Given the description of an element on the screen output the (x, y) to click on. 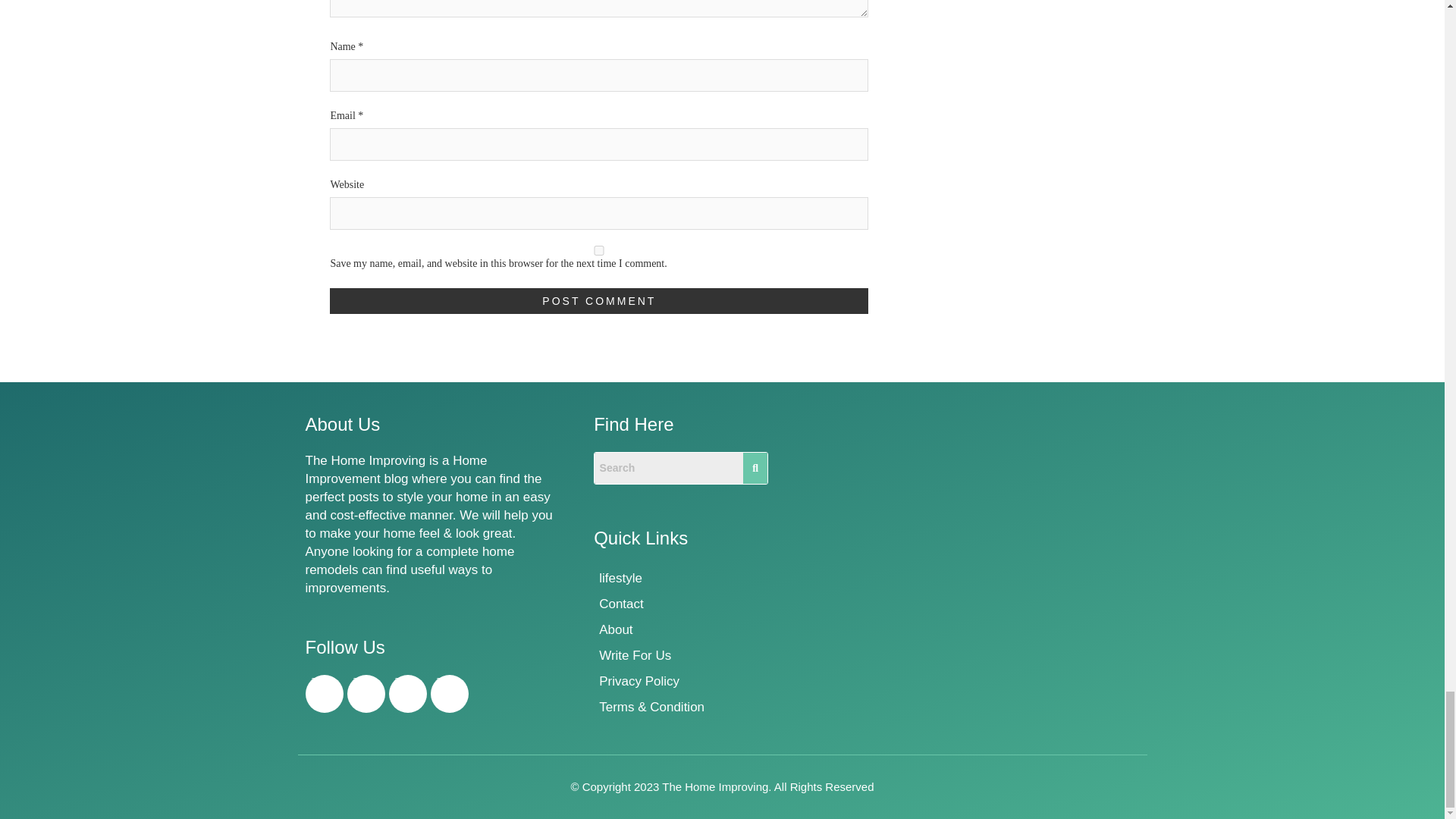
Search (668, 468)
yes (598, 250)
Post Comment (598, 300)
